Given the description of an element on the screen output the (x, y) to click on. 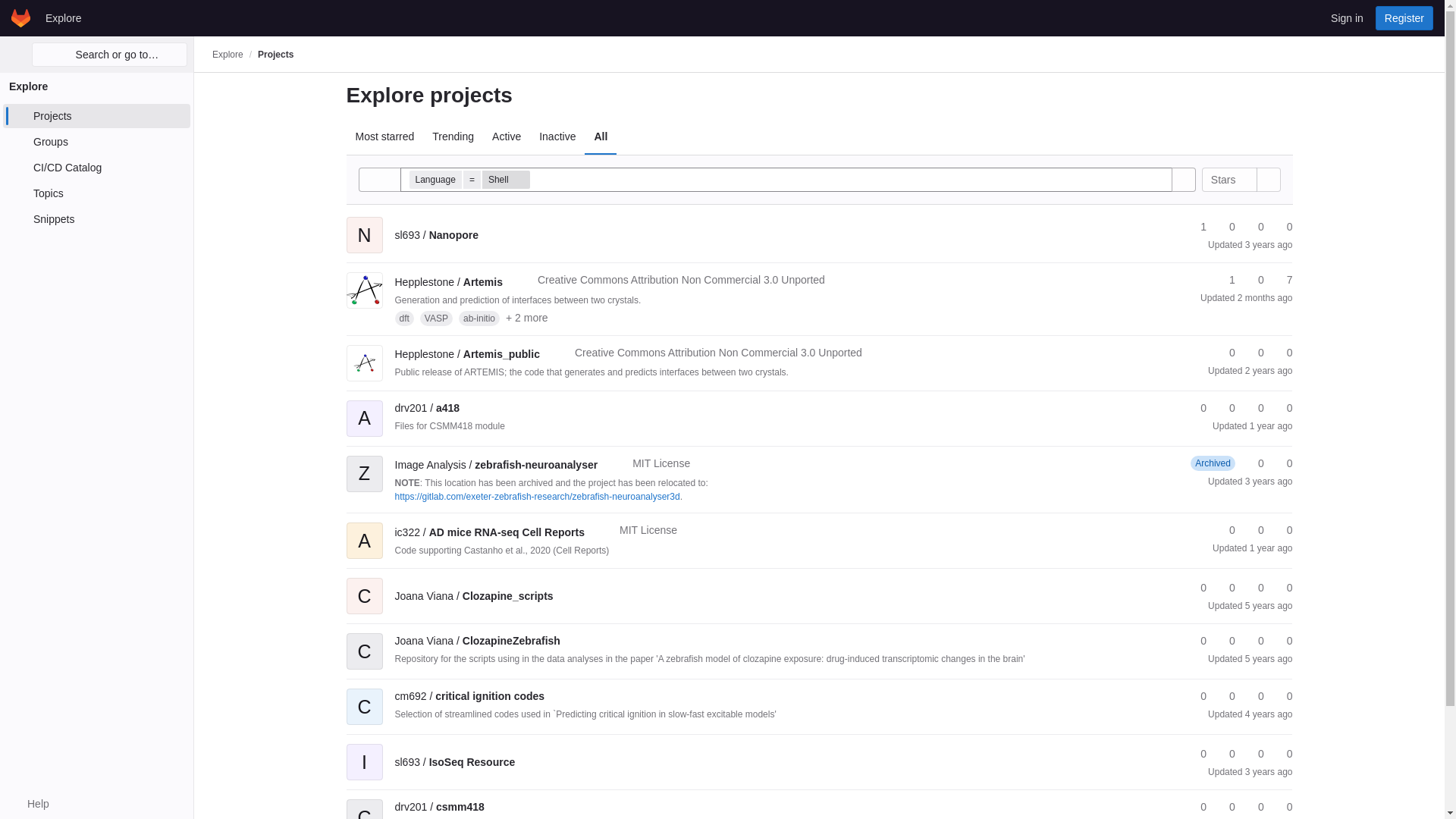
N (363, 224)
Stars (1224, 279)
Sign in (1347, 17)
Stars (1229, 179)
Issues (1282, 227)
Explore (63, 17)
Register (1403, 17)
Merge requests (1253, 227)
Groups (96, 141)
Issues (1282, 279)
